Given the description of an element on the screen output the (x, y) to click on. 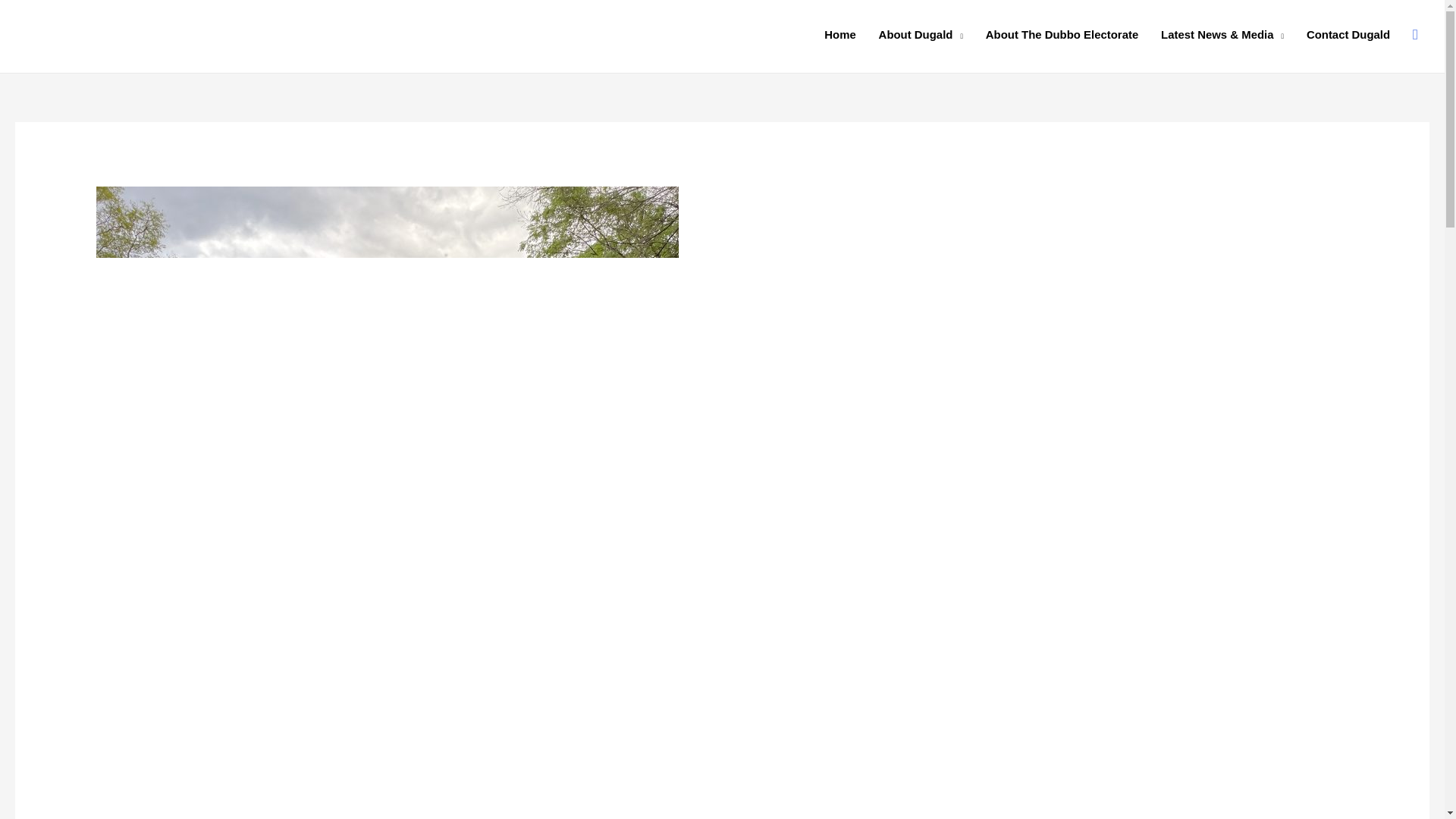
Contact Dugald (1347, 34)
About Dugald (920, 34)
Home (839, 34)
About The Dubbo Electorate (1062, 34)
